Given the description of an element on the screen output the (x, y) to click on. 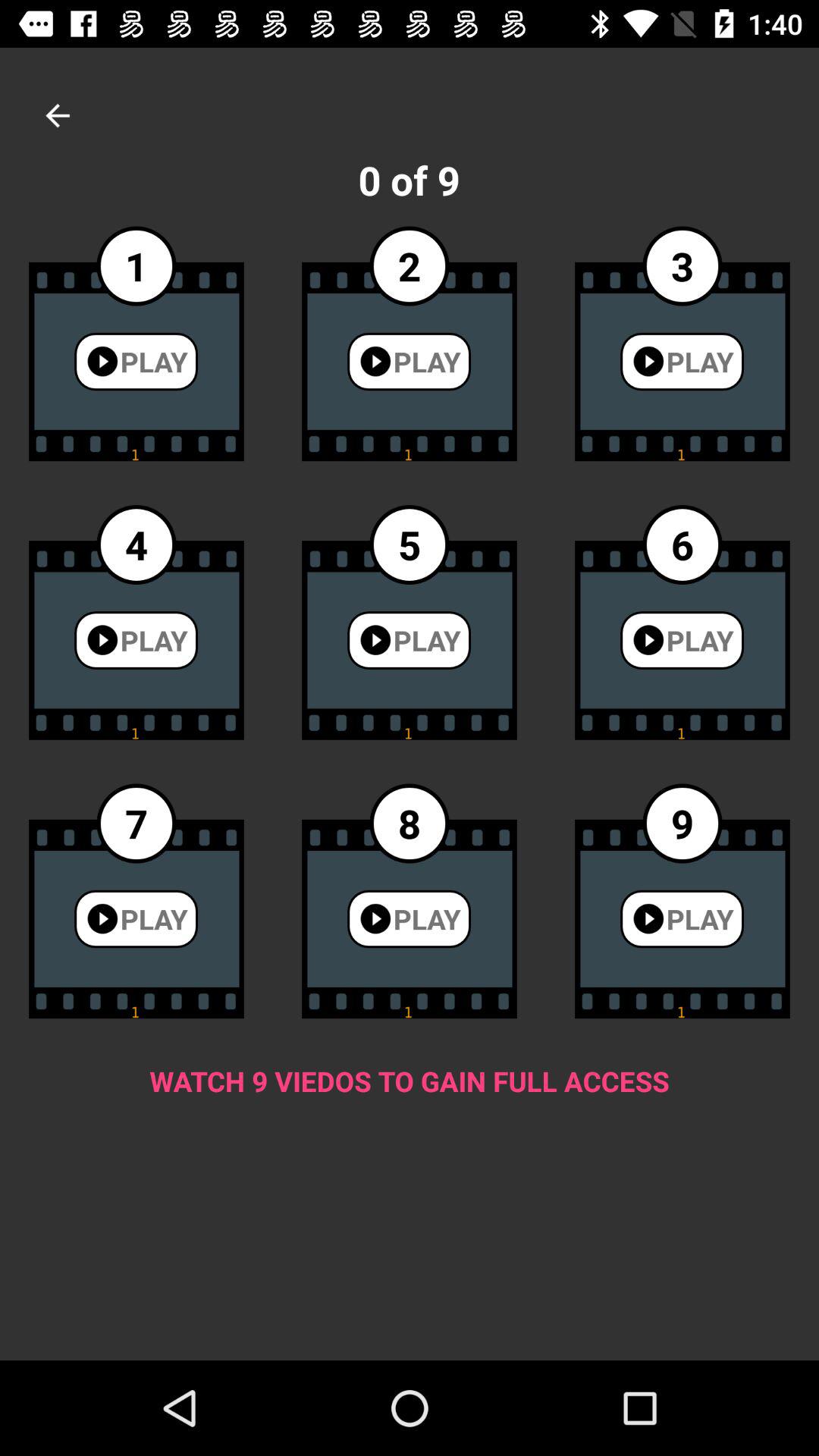
turn on icon to the left of 0 of 9 item (57, 115)
